Given the description of an element on the screen output the (x, y) to click on. 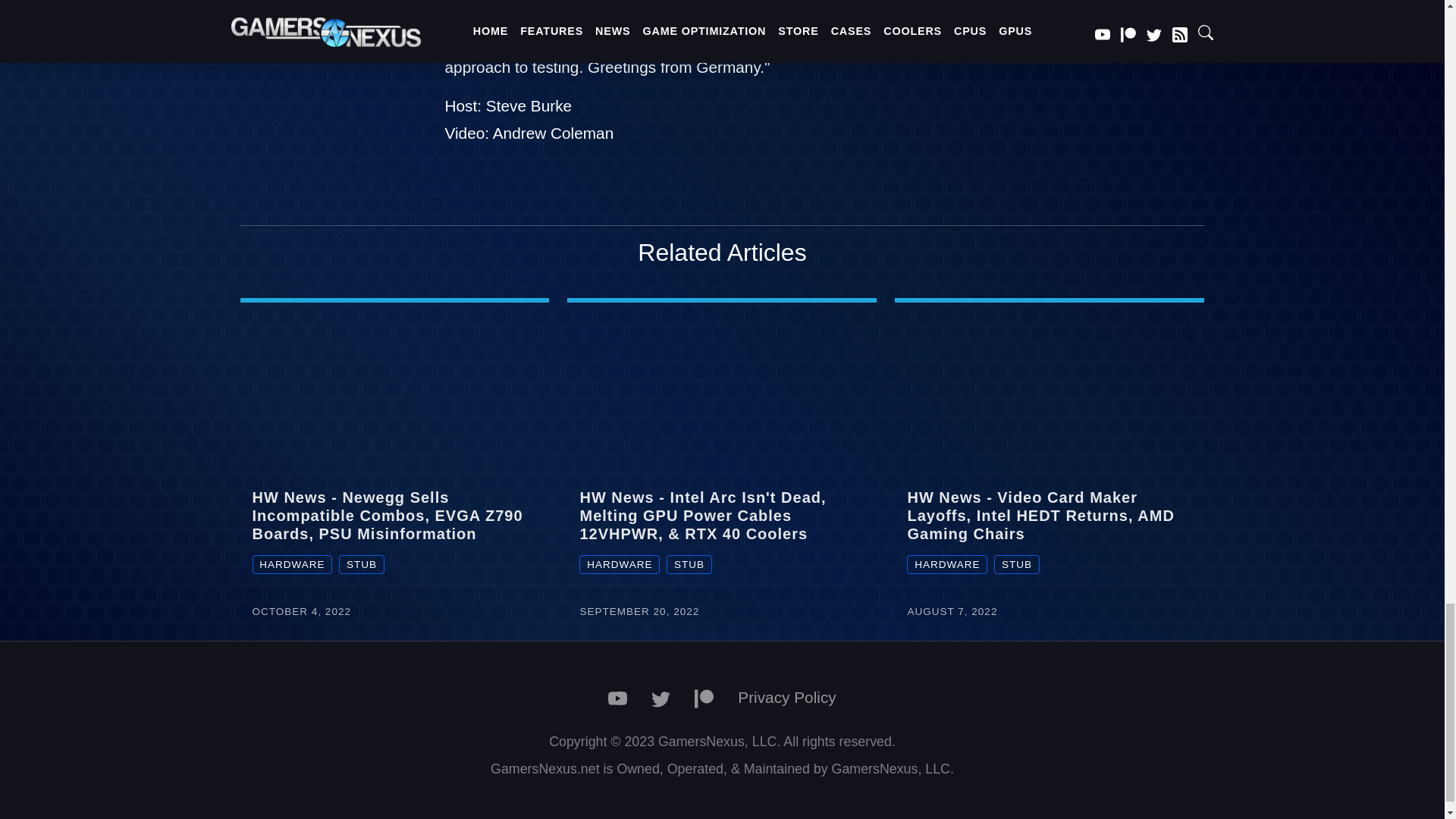
Privacy Policy (786, 697)
